Given the description of an element on the screen output the (x, y) to click on. 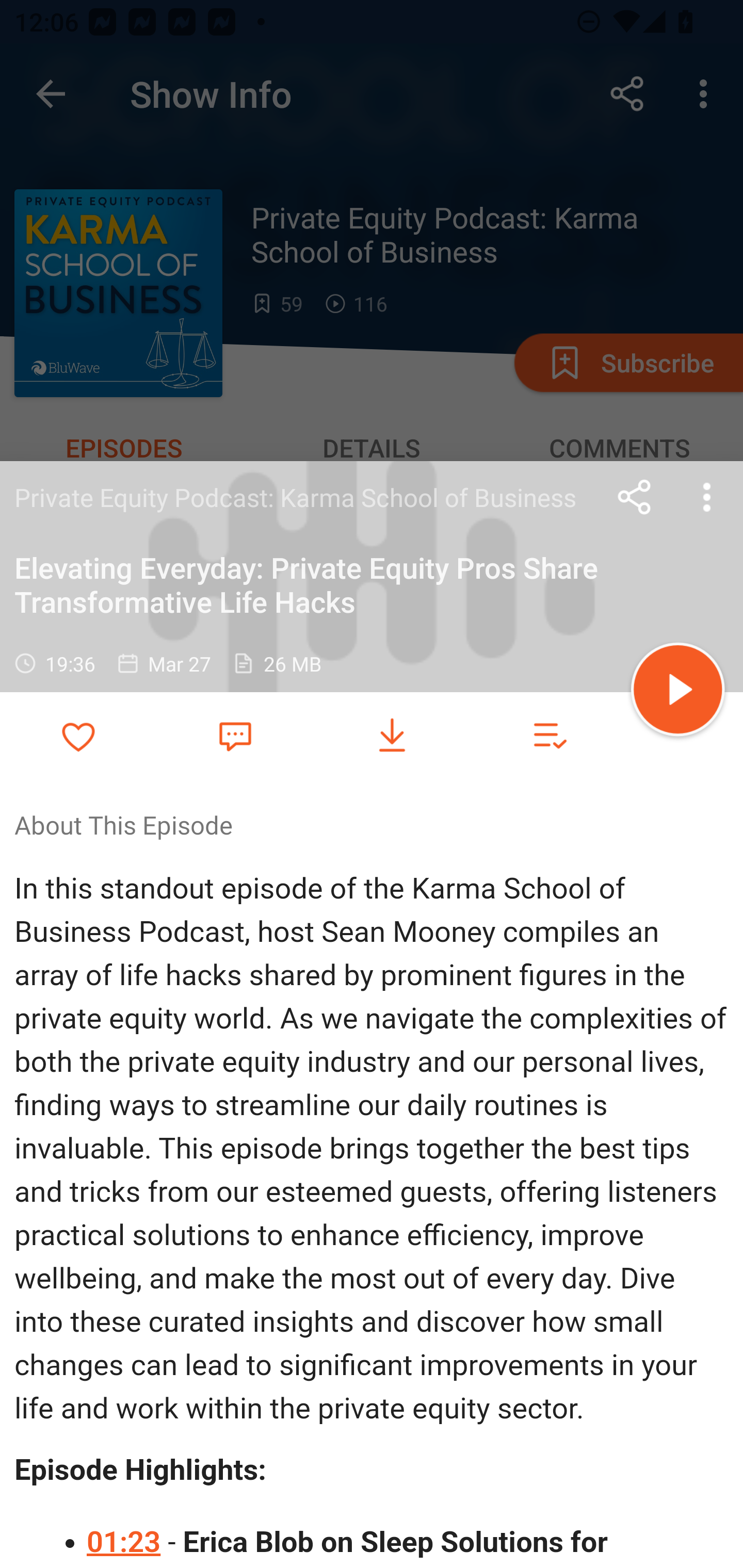
Share (634, 496)
more options (706, 496)
Play (677, 692)
Favorite (234, 735)
Add to Favorites (78, 735)
Download (391, 735)
Add to playlist (548, 735)
01:23 (124, 1542)
